Given the description of an element on the screen output the (x, y) to click on. 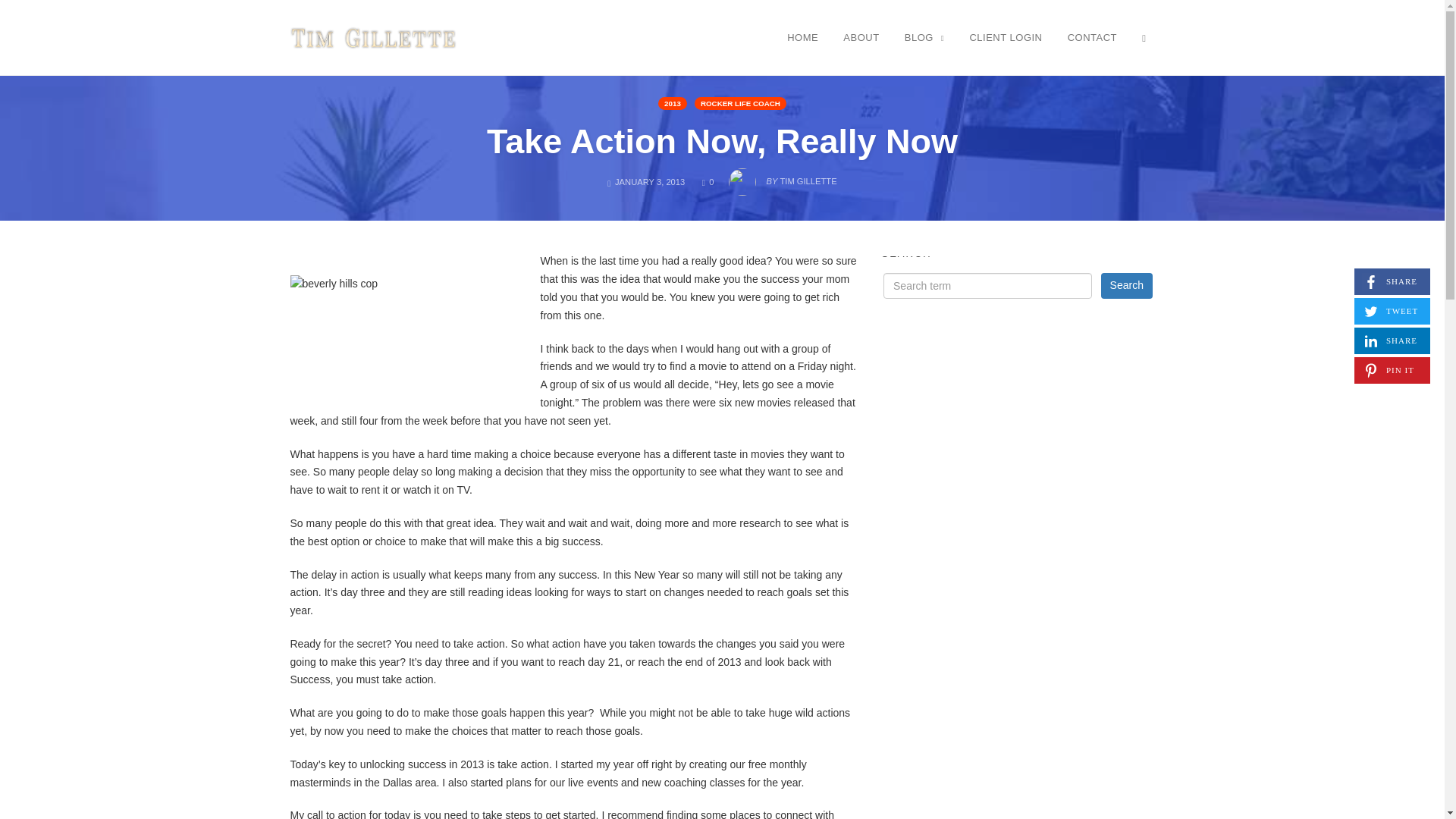
CONTACT (1092, 37)
2013 (672, 103)
ABOUT (860, 37)
BLOG (924, 37)
ROCKER LIFE COACH (740, 103)
OPEN SEARCH FORM (1144, 37)
HOME (1391, 340)
